Given the description of an element on the screen output the (x, y) to click on. 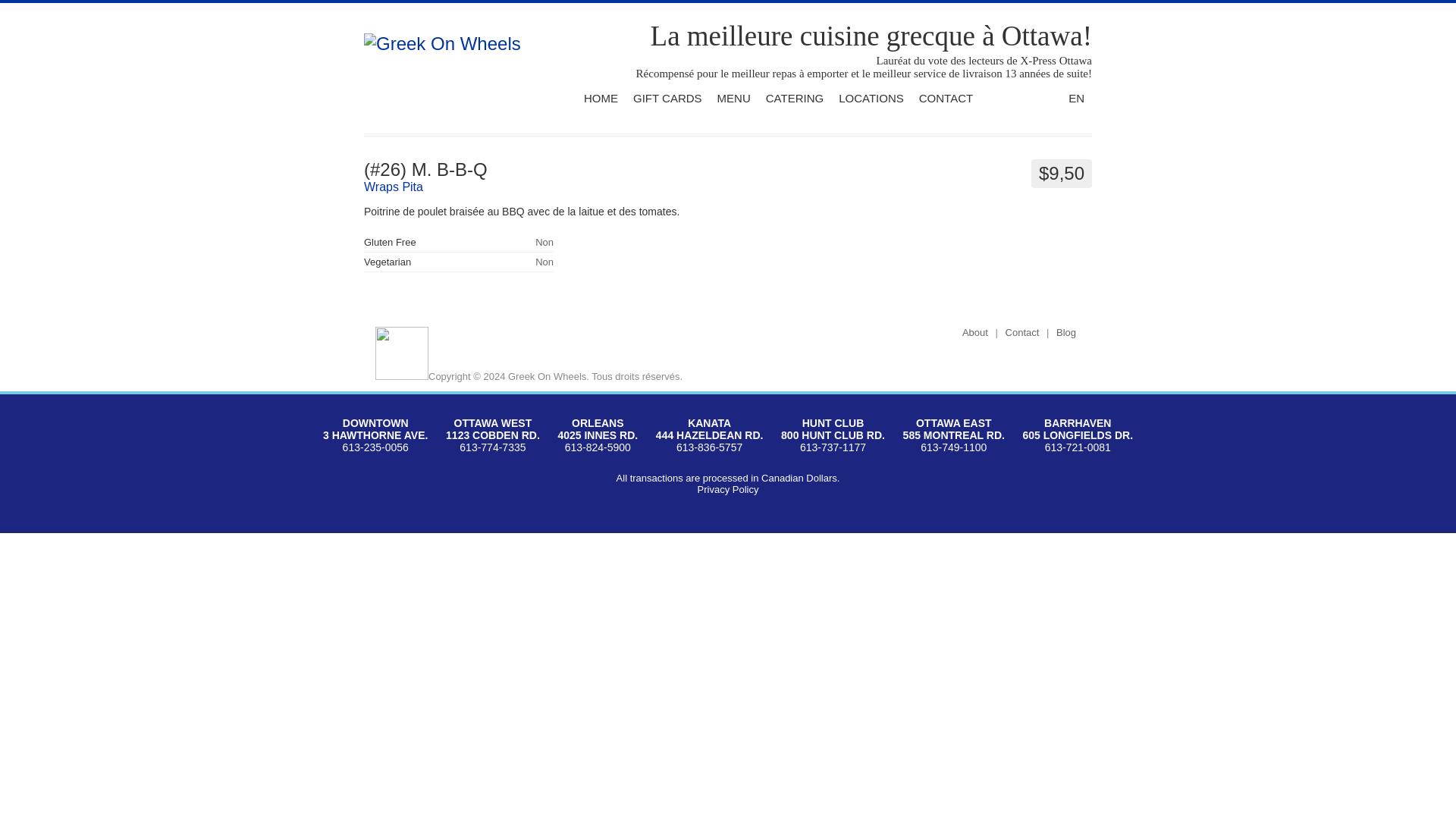
ORDER NOW (1023, 100)
CONTACT (945, 97)
Blog (1066, 332)
Greek On Wheels (442, 43)
GIFT CARDS (668, 97)
613-235-0056 (375, 448)
613-737-1177 (832, 448)
Wraps Pita (393, 187)
CATERING (794, 97)
613-749-1100 (953, 448)
Contact (1022, 332)
Privacy Policy (727, 490)
LOCATIONS (871, 97)
EN (1076, 97)
About (975, 332)
